Given the description of an element on the screen output the (x, y) to click on. 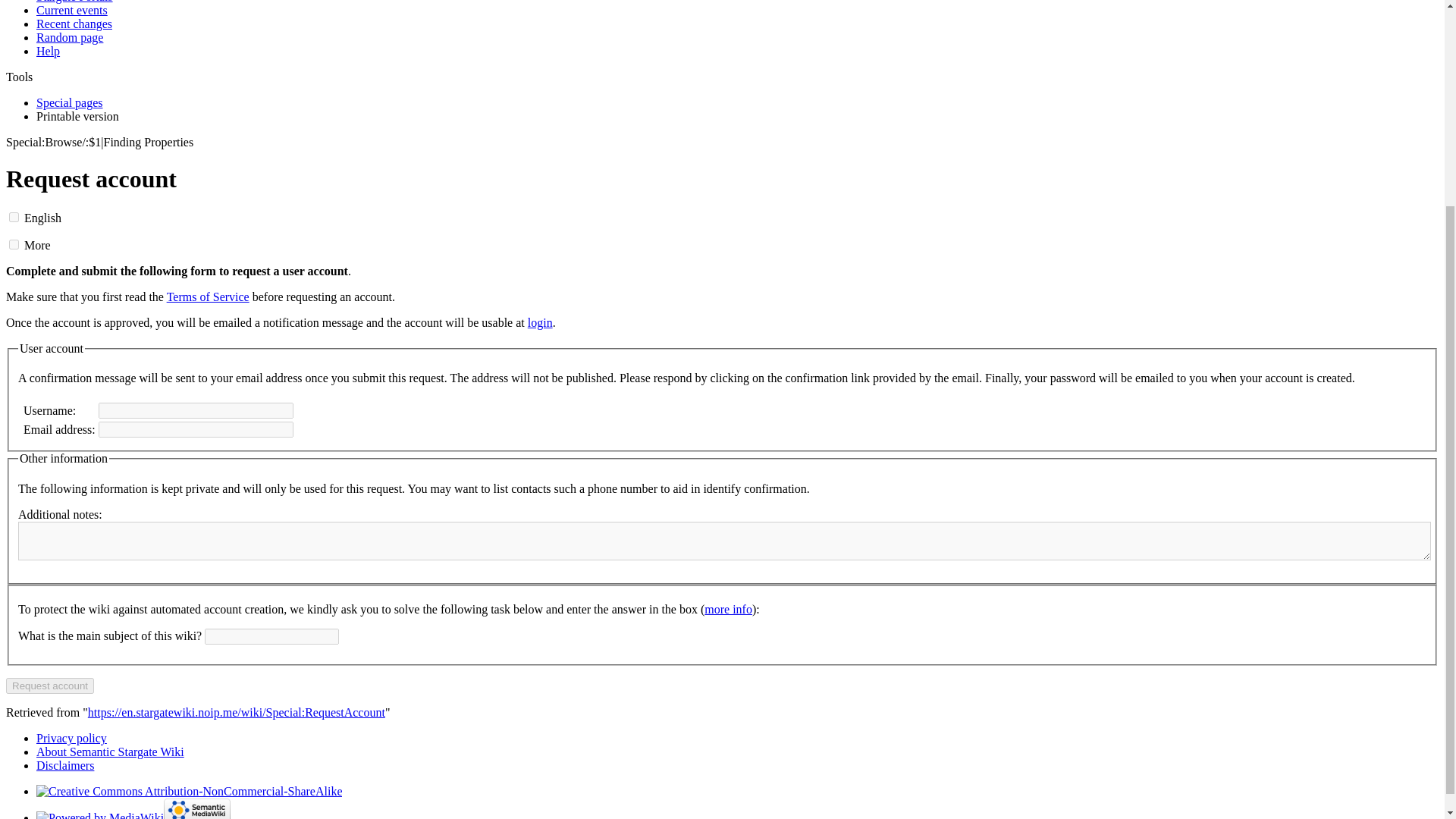
About Semantic Stargate Wiki (110, 751)
Find background information on current events (71, 10)
Request account (49, 685)
Request account (49, 685)
on (13, 216)
Help (47, 51)
Stargate Portals (74, 1)
login (540, 322)
Privacy policy (71, 738)
more info (728, 608)
Special pages (69, 102)
The place to find out (47, 51)
Current events (71, 10)
Recent changes (74, 23)
Disclaimers (65, 765)
